Given the description of an element on the screen output the (x, y) to click on. 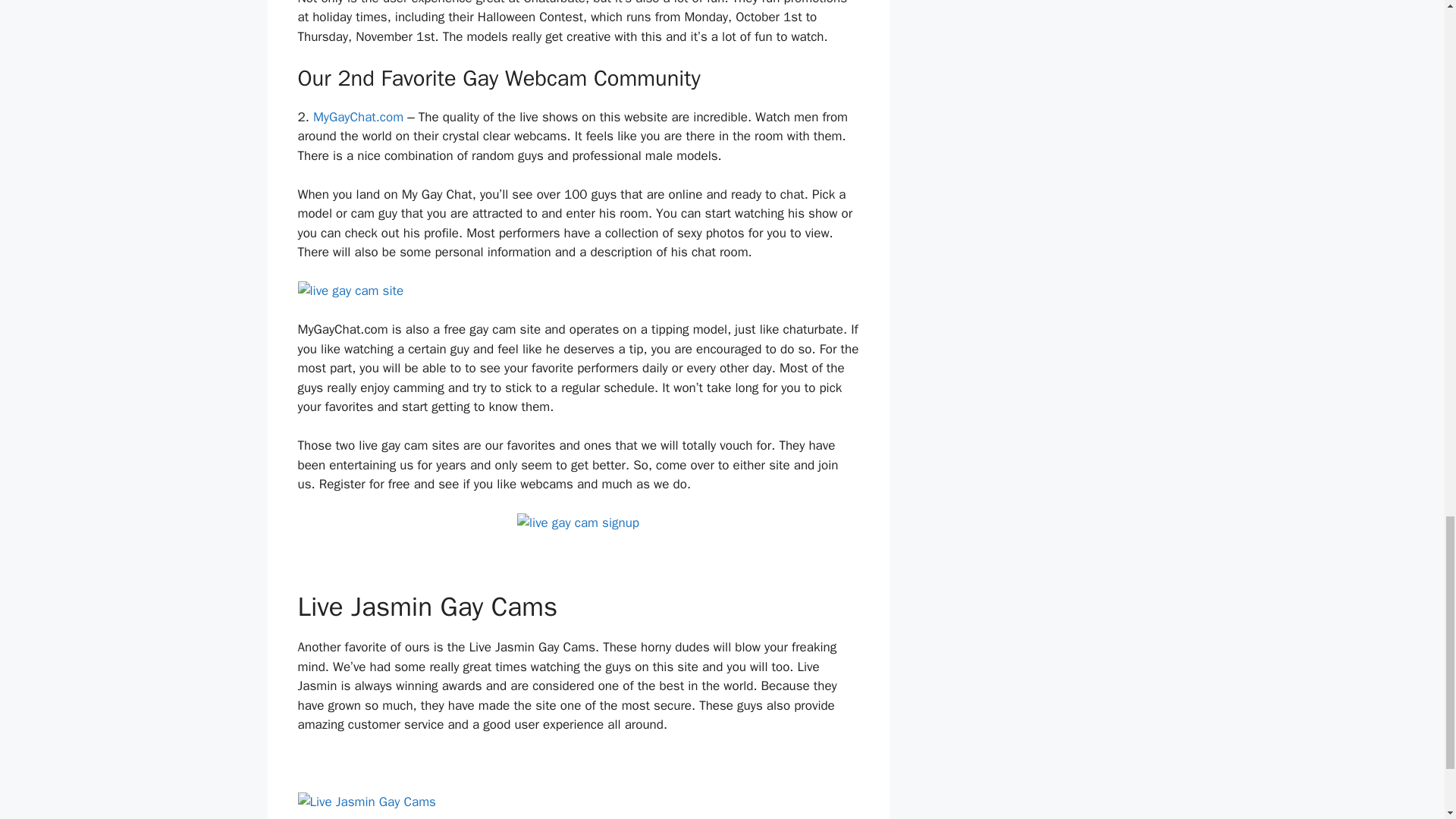
MyGayChat.com (358, 116)
